Given the description of an element on the screen output the (x, y) to click on. 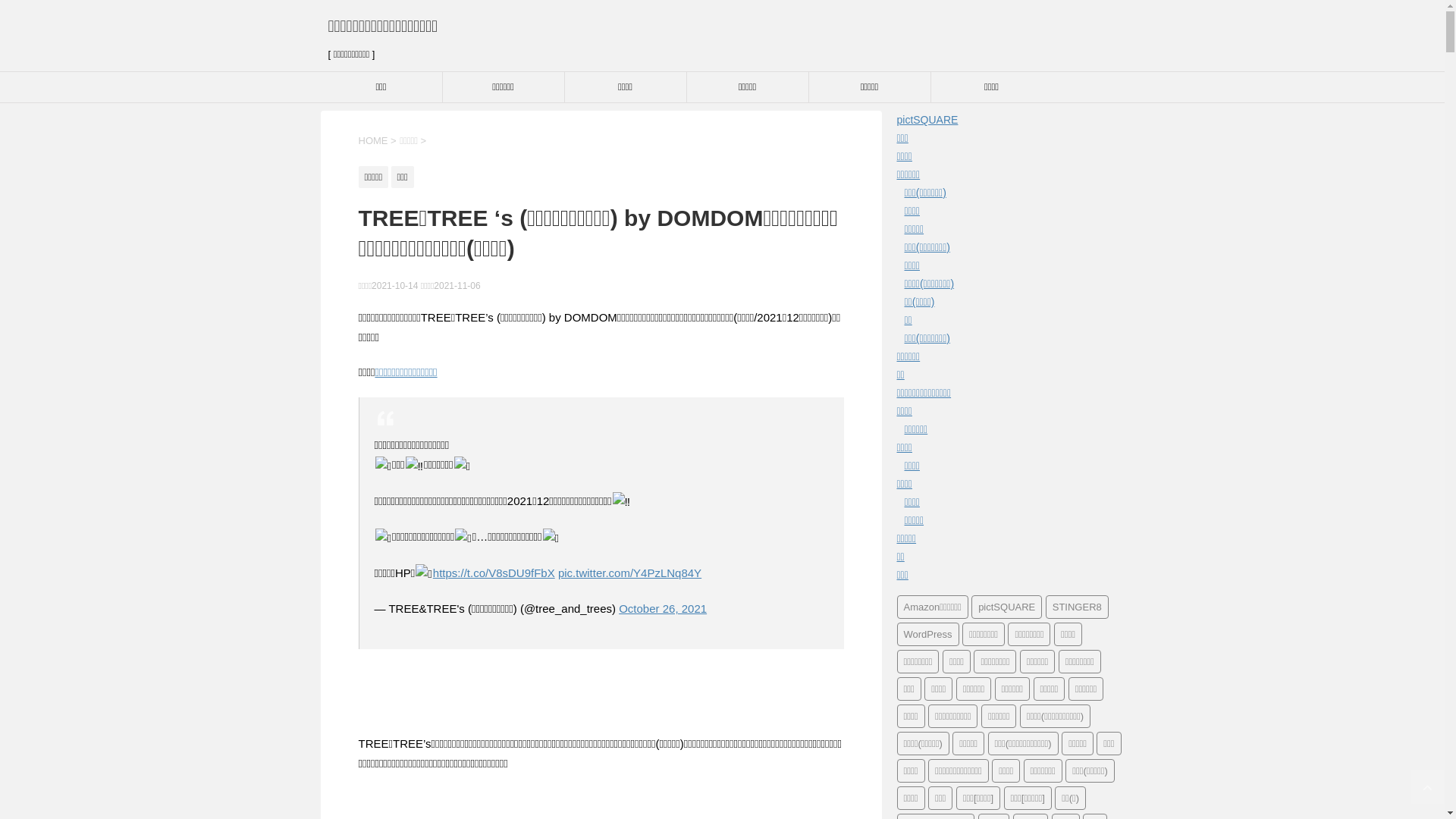
WordPress Element type: text (927, 634)
STINGER8 Element type: text (1076, 606)
pictSQUARE Element type: text (1006, 606)
October 26, 2021 Element type: text (662, 608)
HOME Element type: text (372, 140)
pictSQUARE Element type: text (926, 119)
pic.twitter.com/Y4PzLNq84Y Element type: text (629, 572)
https://t.co/V8sDU9fFbX Element type: text (494, 572)
